Given the description of an element on the screen output the (x, y) to click on. 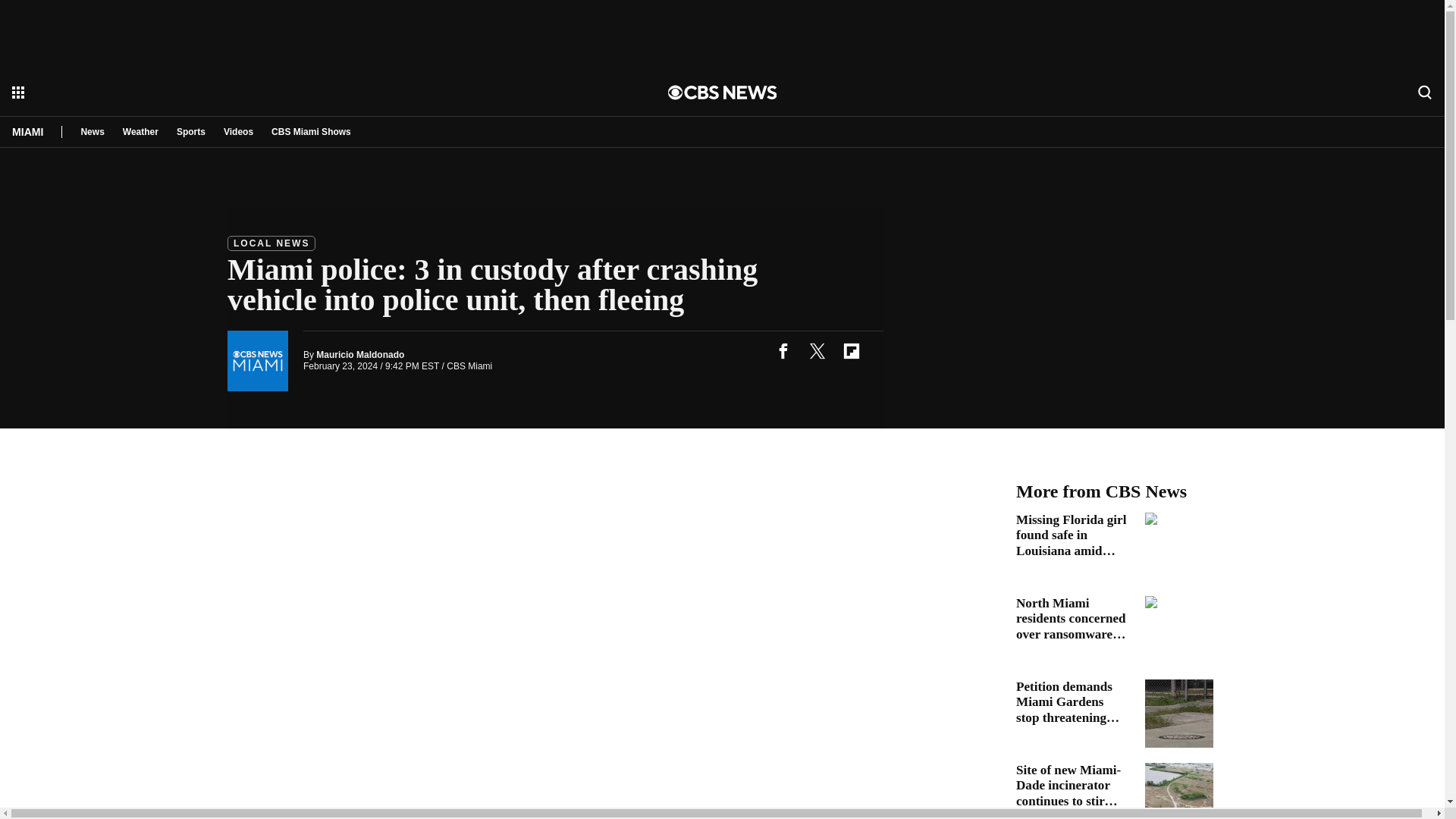
flipboard (850, 350)
facebook (782, 350)
twitter (816, 350)
